Given the description of an element on the screen output the (x, y) to click on. 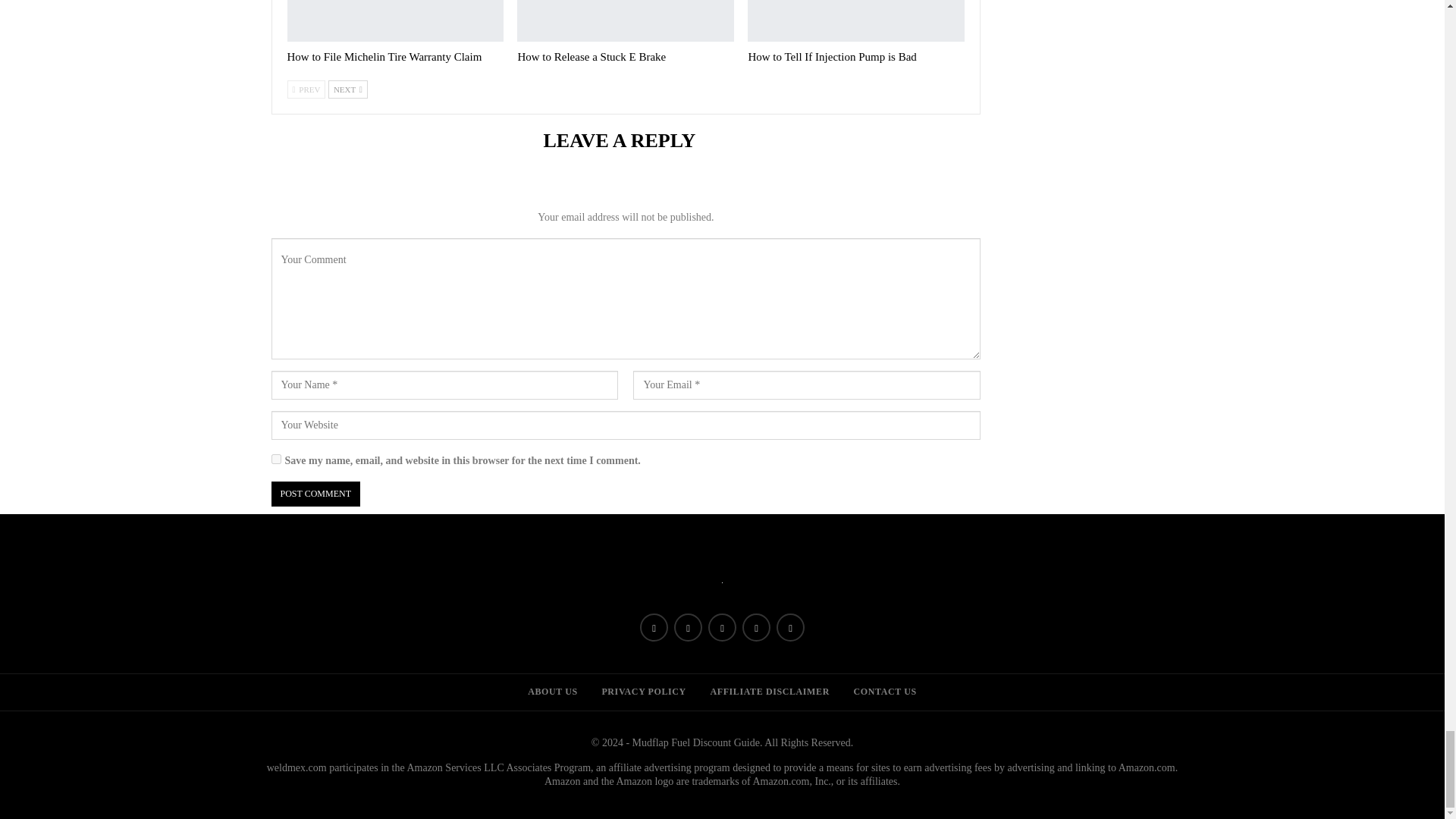
yes (275, 459)
How to Tell If Injection Pump is Bad (855, 20)
Post Comment (314, 493)
How to Tell If Injection Pump is Bad (831, 56)
How to File Michelin Tire Warranty Claim (383, 56)
How to Release a Stuck E Brake (624, 20)
How to File Michelin Tire Warranty Claim (394, 20)
How to File Michelin Tire Warranty Claim (383, 56)
How to Release a Stuck E Brake (590, 56)
